Given the description of an element on the screen output the (x, y) to click on. 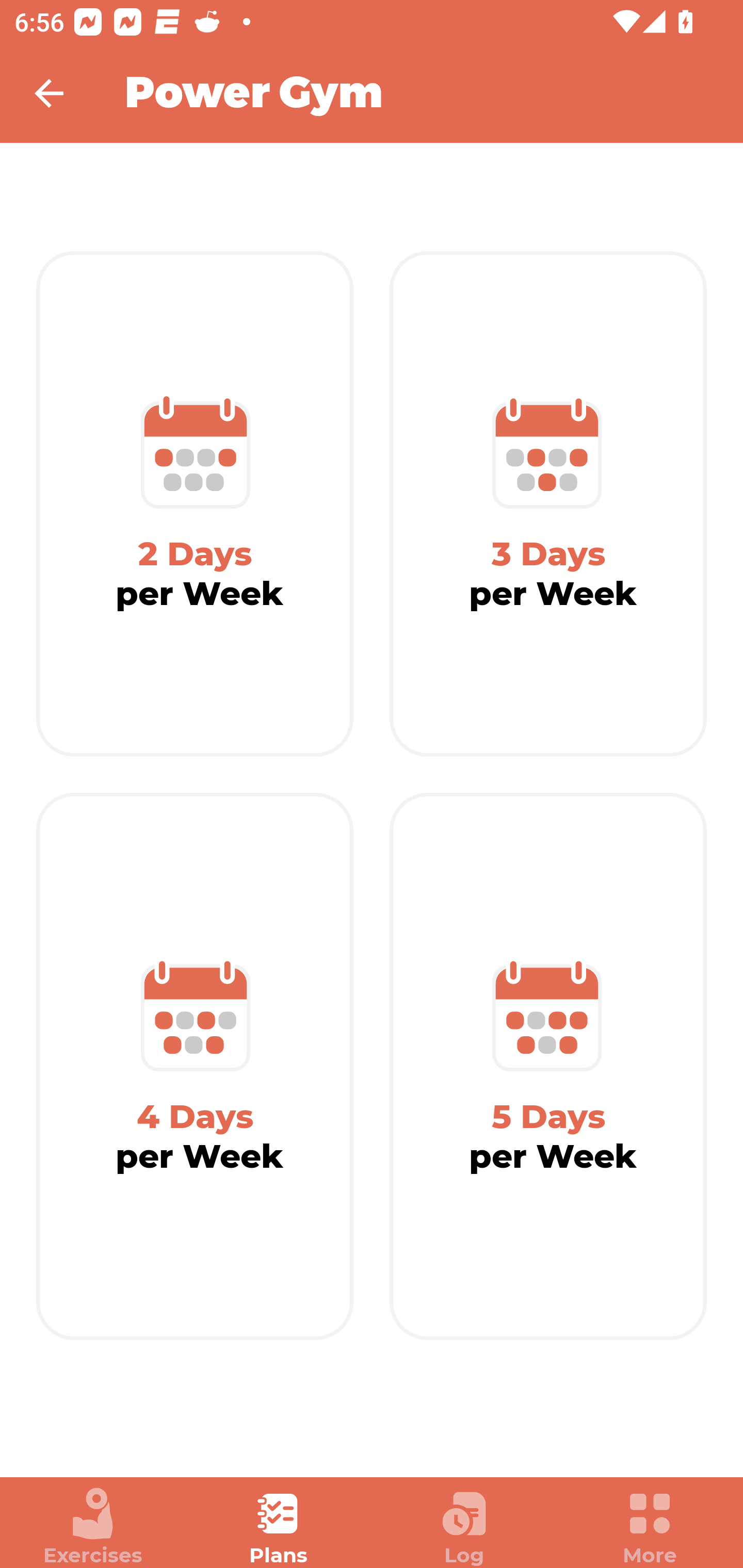
Back (62, 92)
2 Days
 per Week (194, 503)
3 Days
 per Week (547, 503)
4 Days
 per Week (194, 1066)
5 Days
 per Week (547, 1066)
Exercises (92, 1527)
Plans (278, 1527)
Log (464, 1527)
More (650, 1527)
